Given the description of an element on the screen output the (x, y) to click on. 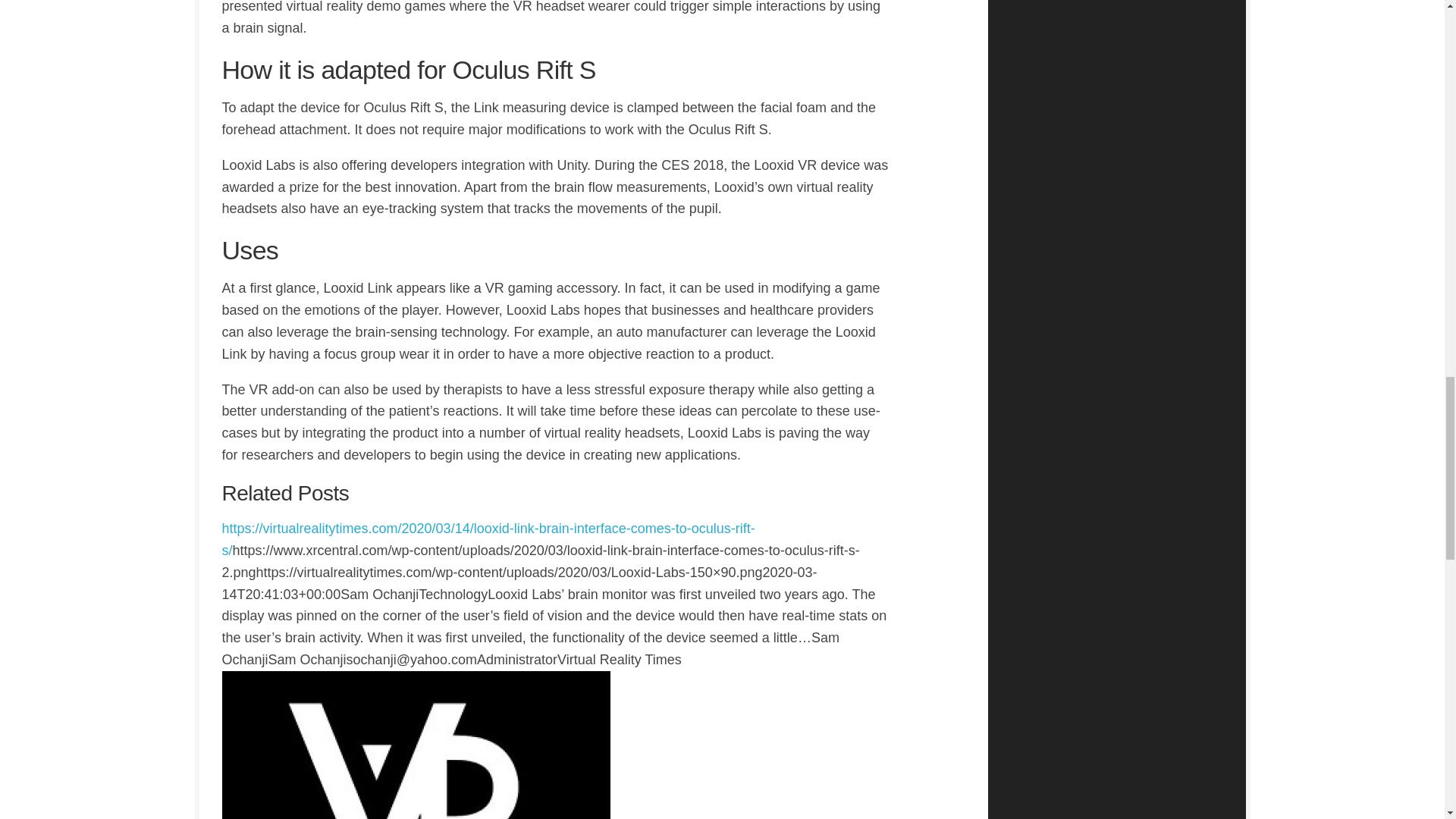
Looxid Link Brain Interface Comes to Oculus Rift S  (487, 538)
